Given the description of an element on the screen output the (x, y) to click on. 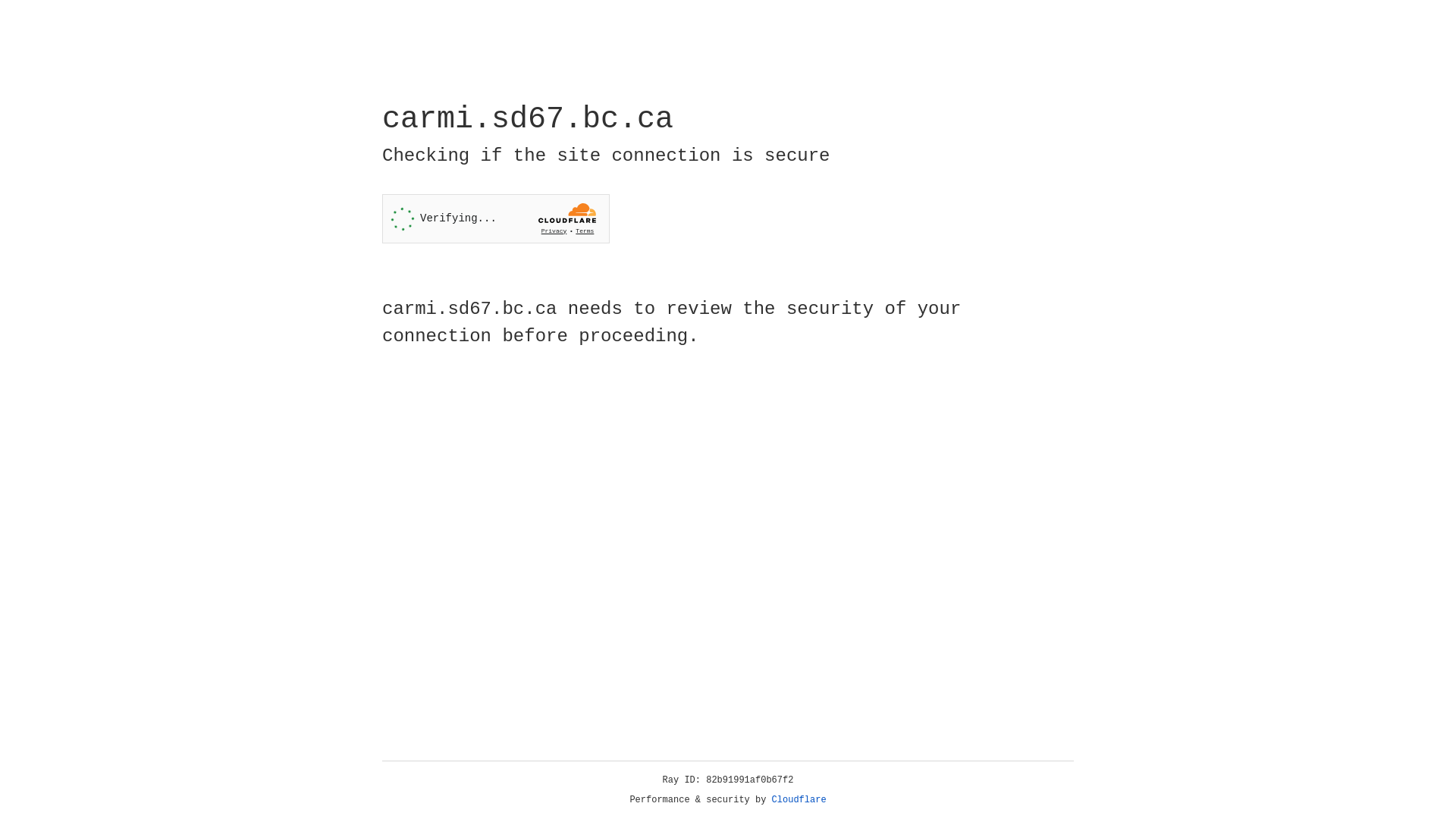
Widget containing a Cloudflare security challenge Element type: hover (495, 218)
Cloudflare Element type: text (798, 799)
